Given the description of an element on the screen output the (x, y) to click on. 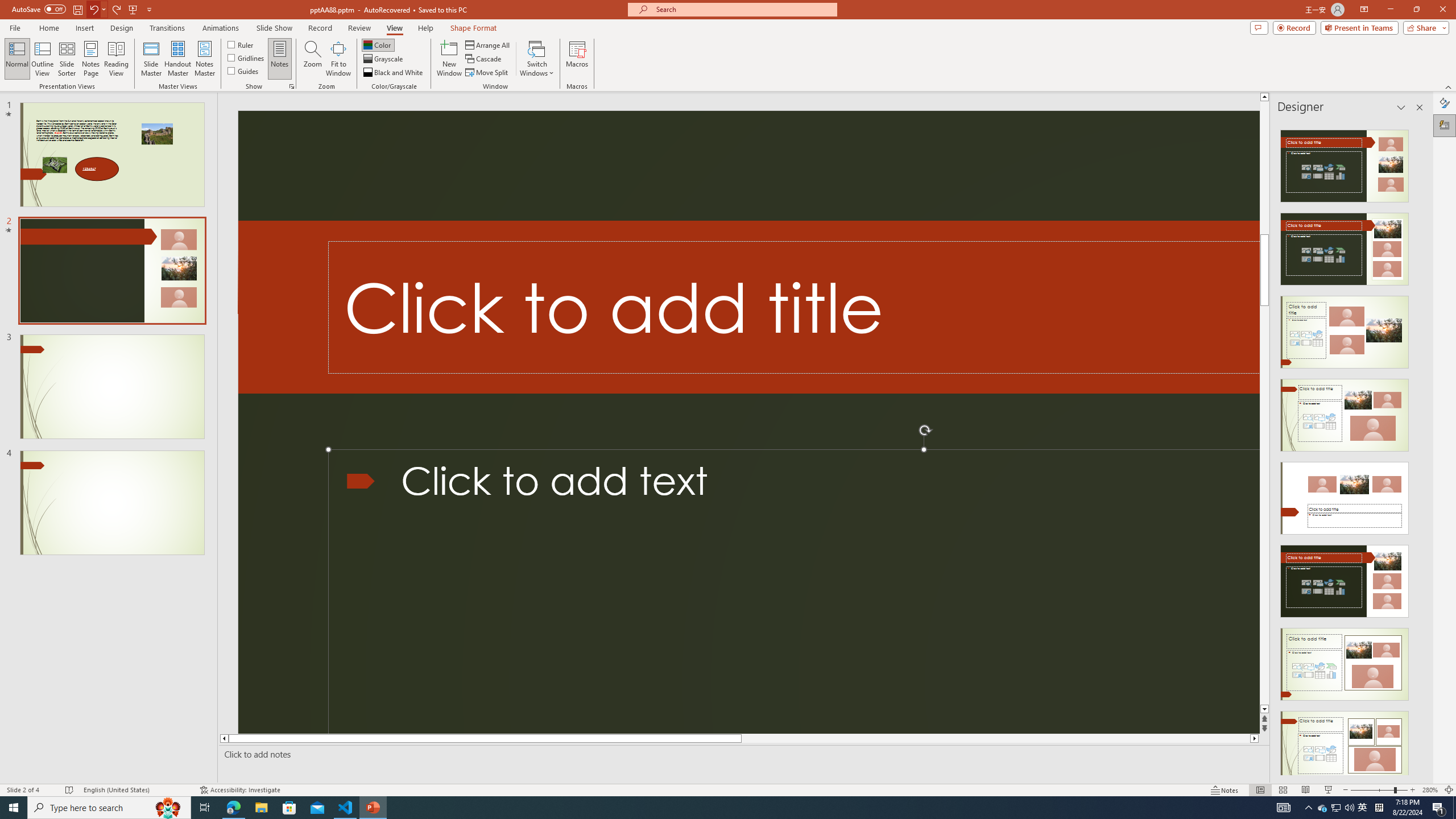
Guides (243, 69)
Decorative Locked (748, 306)
Notes Master (204, 58)
